Given the description of an element on the screen output the (x, y) to click on. 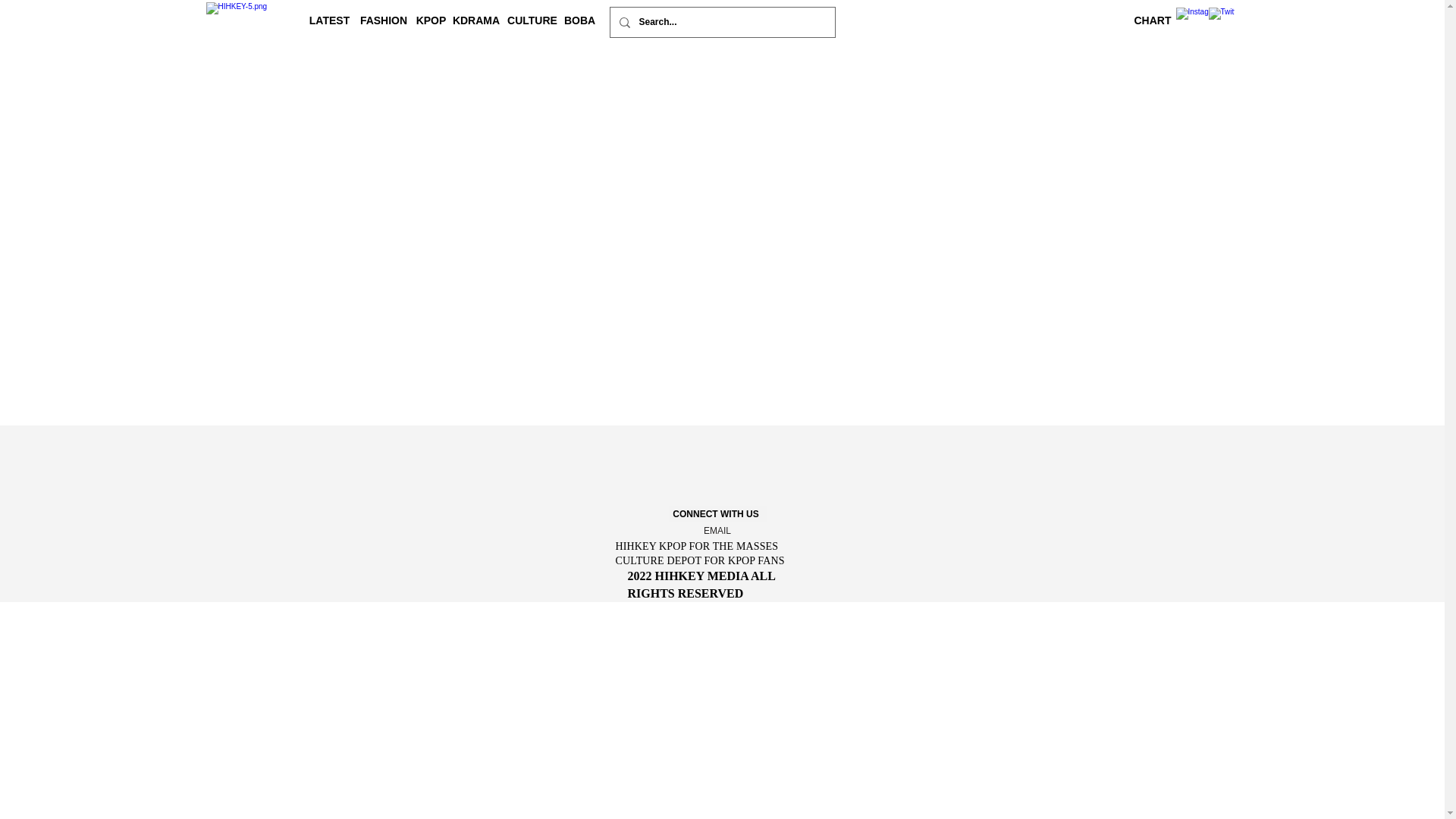
CULTURE (534, 20)
LATEST (330, 20)
FASHION (385, 20)
CONNECT WITH US (717, 514)
BOBA (580, 20)
KPOP (431, 20)
EMAIL (716, 530)
CHART (1154, 20)
KDRAMA (476, 20)
